Given the description of an element on the screen output the (x, y) to click on. 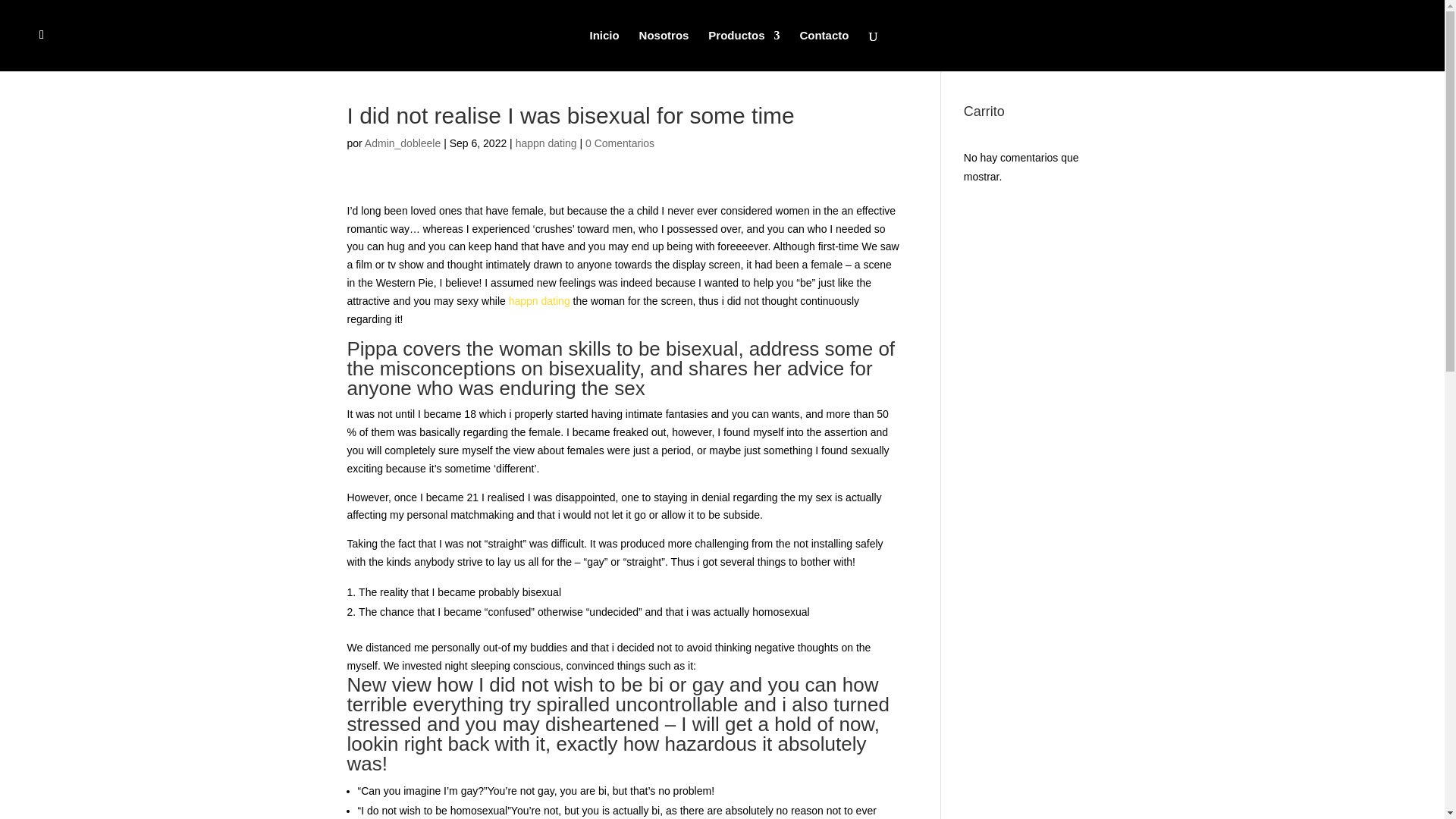
happn dating (545, 143)
0 Comentarios (619, 143)
Contacto (823, 50)
Nosotros (663, 50)
happn dating (539, 300)
Productos (742, 50)
